Given the description of an element on the screen output the (x, y) to click on. 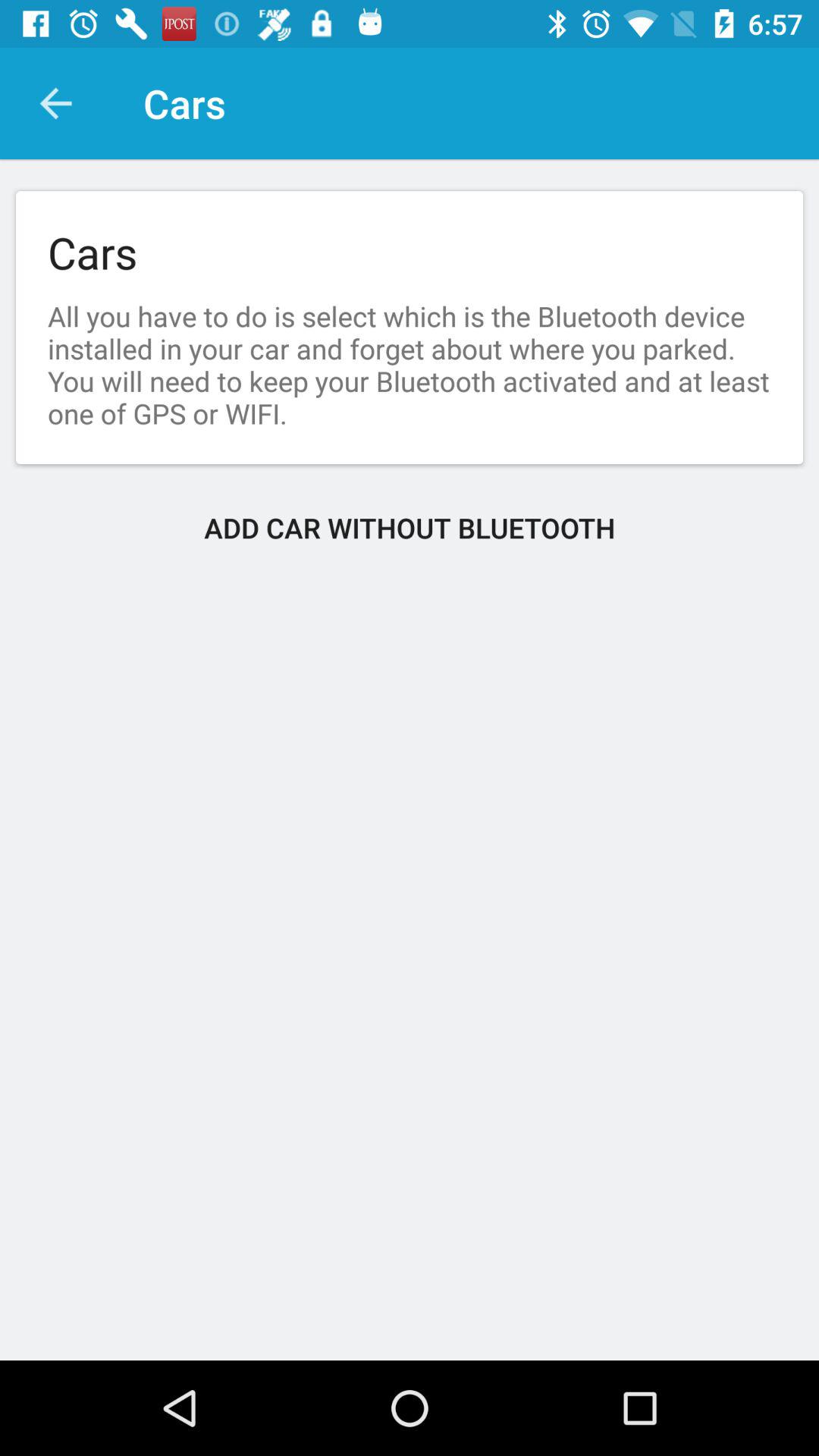
open the item to the left of cars (55, 103)
